Given the description of an element on the screen output the (x, y) to click on. 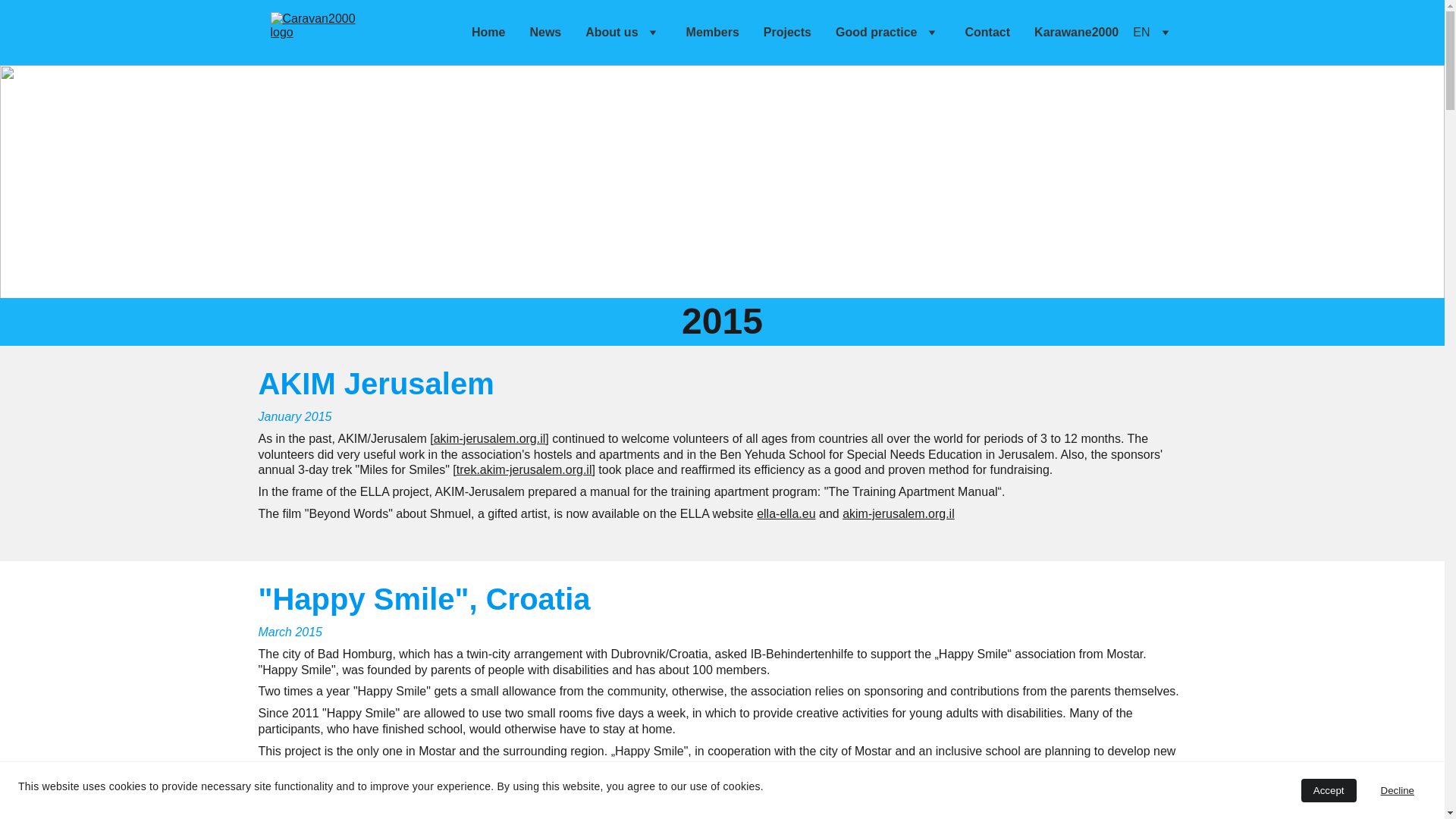
Members (712, 32)
Projects (786, 32)
Karawane2000 (1075, 32)
Home (488, 32)
Contact (987, 32)
News (544, 32)
